Given the description of an element on the screen output the (x, y) to click on. 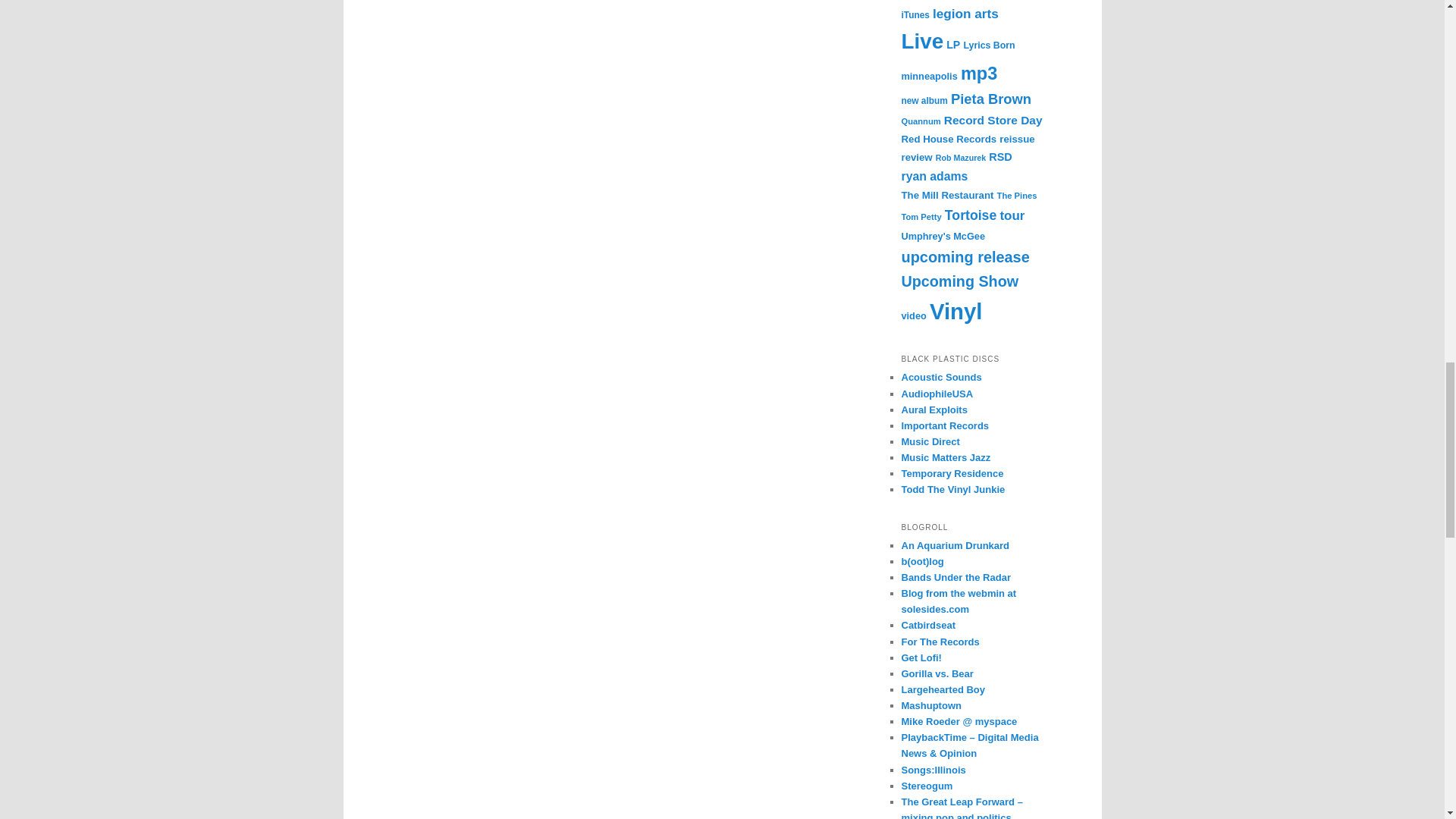
New, sealed or mint condition records. (936, 393)
Music Blog from a Canadian Perspective (939, 641)
Vinyl issue label for bands like Mono, Fridge, Maserati (952, 473)
A muzik bloggy (936, 673)
